Given the description of an element on the screen output the (x, y) to click on. 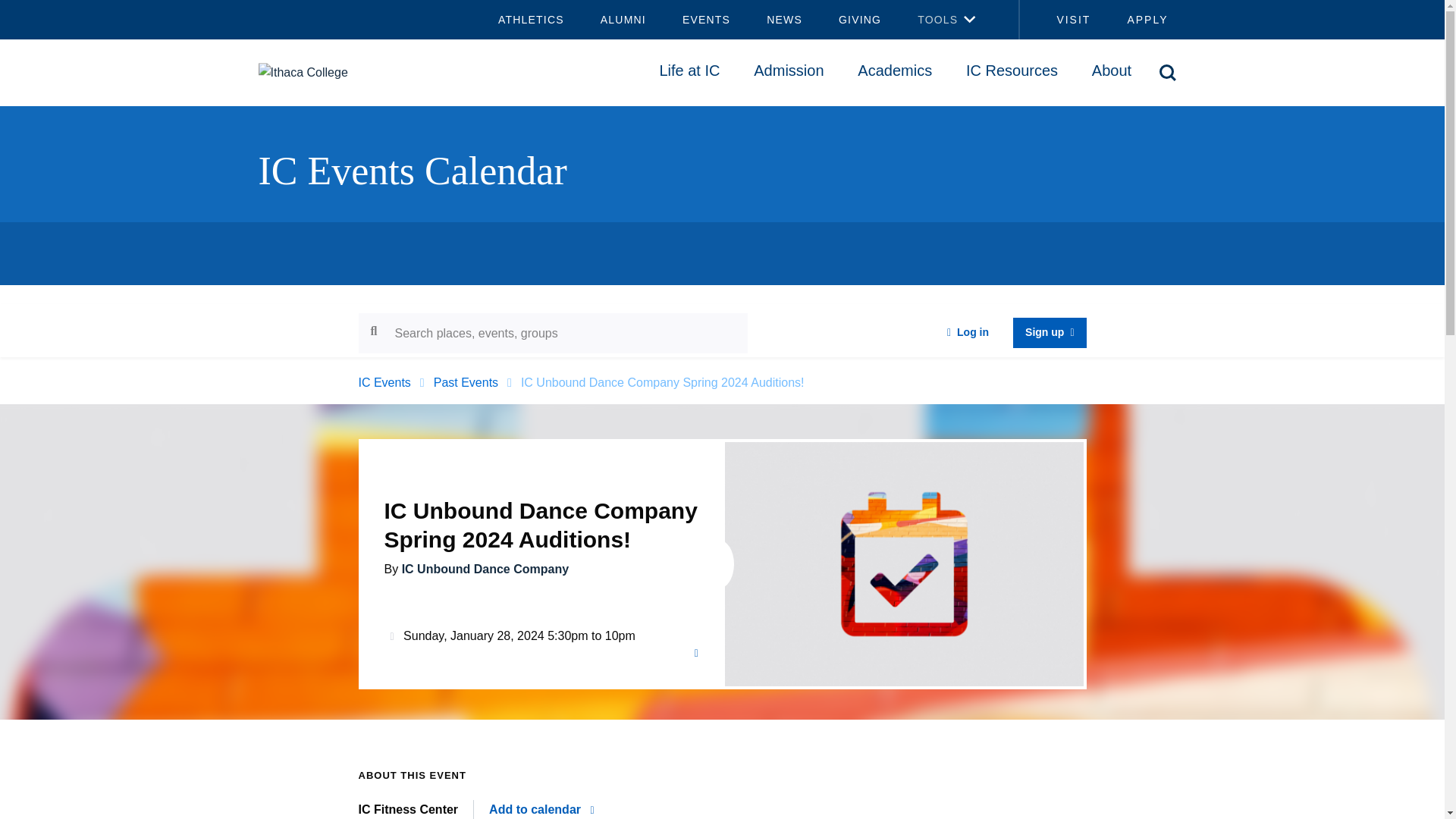
Log in (967, 332)
ATHLETICS (531, 19)
Academics (895, 70)
IC Events (384, 382)
Sign up (1049, 332)
IC Resources (1012, 70)
About (1111, 70)
Past Events (465, 382)
GIVING (860, 19)
ALUMNI (622, 19)
Life at IC (689, 70)
IC Unbound Dance Company (485, 568)
TOOLS (928, 19)
EVENTS (705, 19)
